Given the description of an element on the screen output the (x, y) to click on. 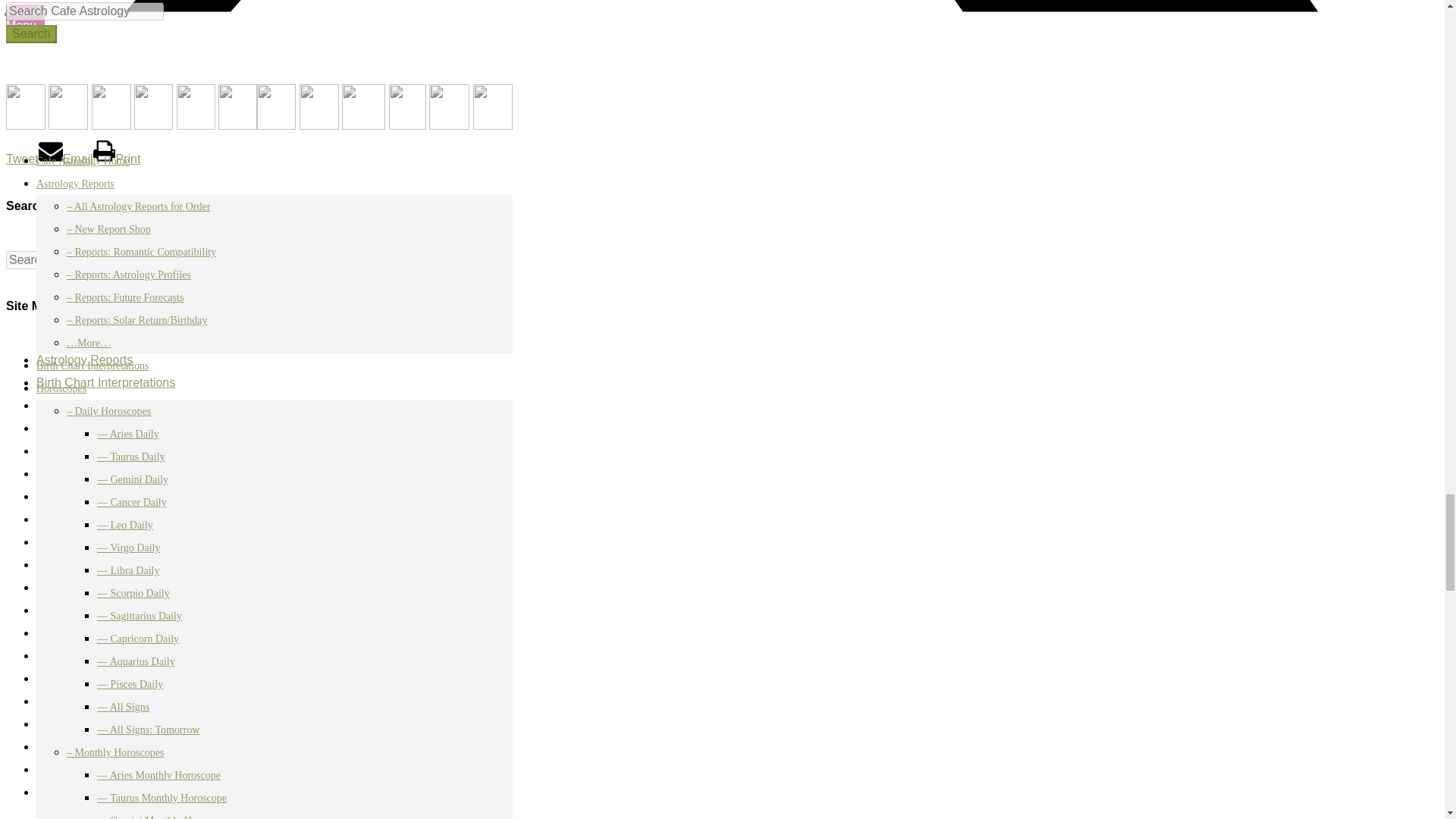
Share via Email (66, 158)
Search (188, 259)
Astrology Reports (84, 359)
Birth Chart Interpretations (105, 382)
Email (66, 158)
Search (188, 259)
Print (117, 158)
Print this Page (117, 158)
Search (188, 259)
Email (66, 158)
